Given the description of an element on the screen output the (x, y) to click on. 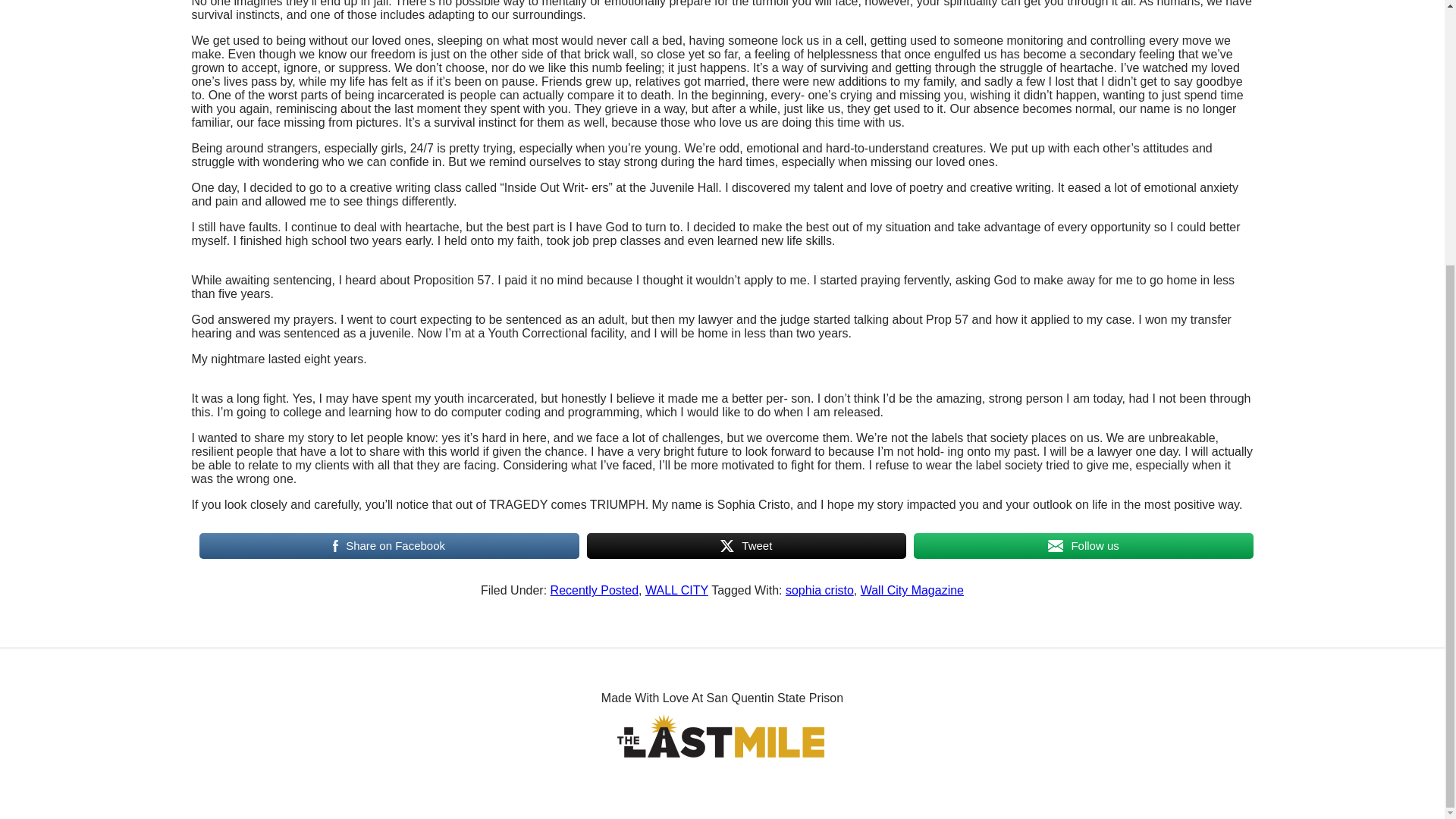
Share on Facebook (388, 545)
Tweet (745, 545)
WALL CITY (676, 590)
Follow us (1083, 545)
Wall City Magazine (911, 590)
Recently Posted (594, 590)
sophia cristo (819, 590)
